Given the description of an element on the screen output the (x, y) to click on. 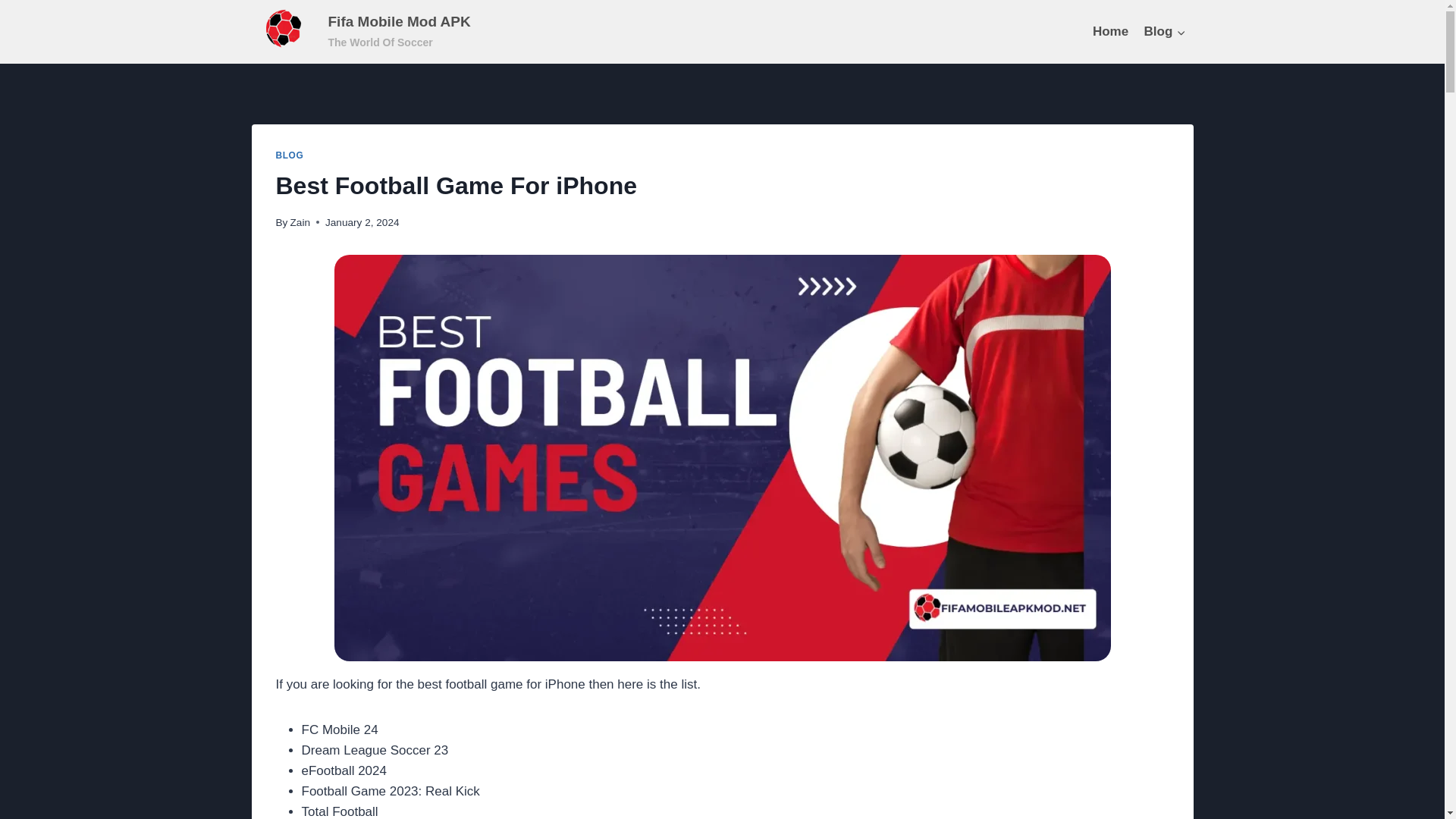
Blog (1163, 31)
Home (1110, 31)
Zain (299, 222)
BLOG (290, 154)
